Given the description of an element on the screen output the (x, y) to click on. 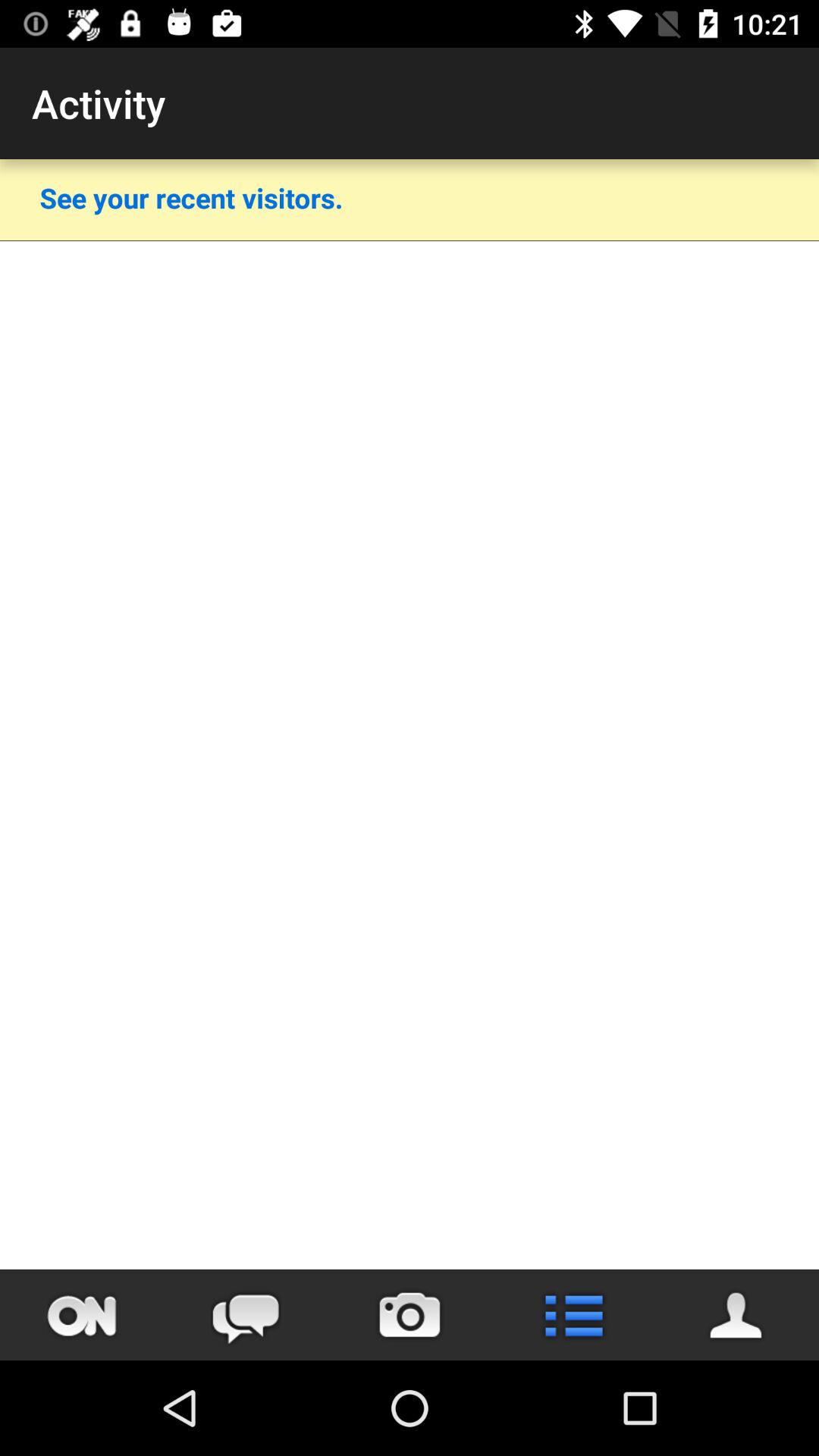
select view (737, 1315)
